Given the description of an element on the screen output the (x, y) to click on. 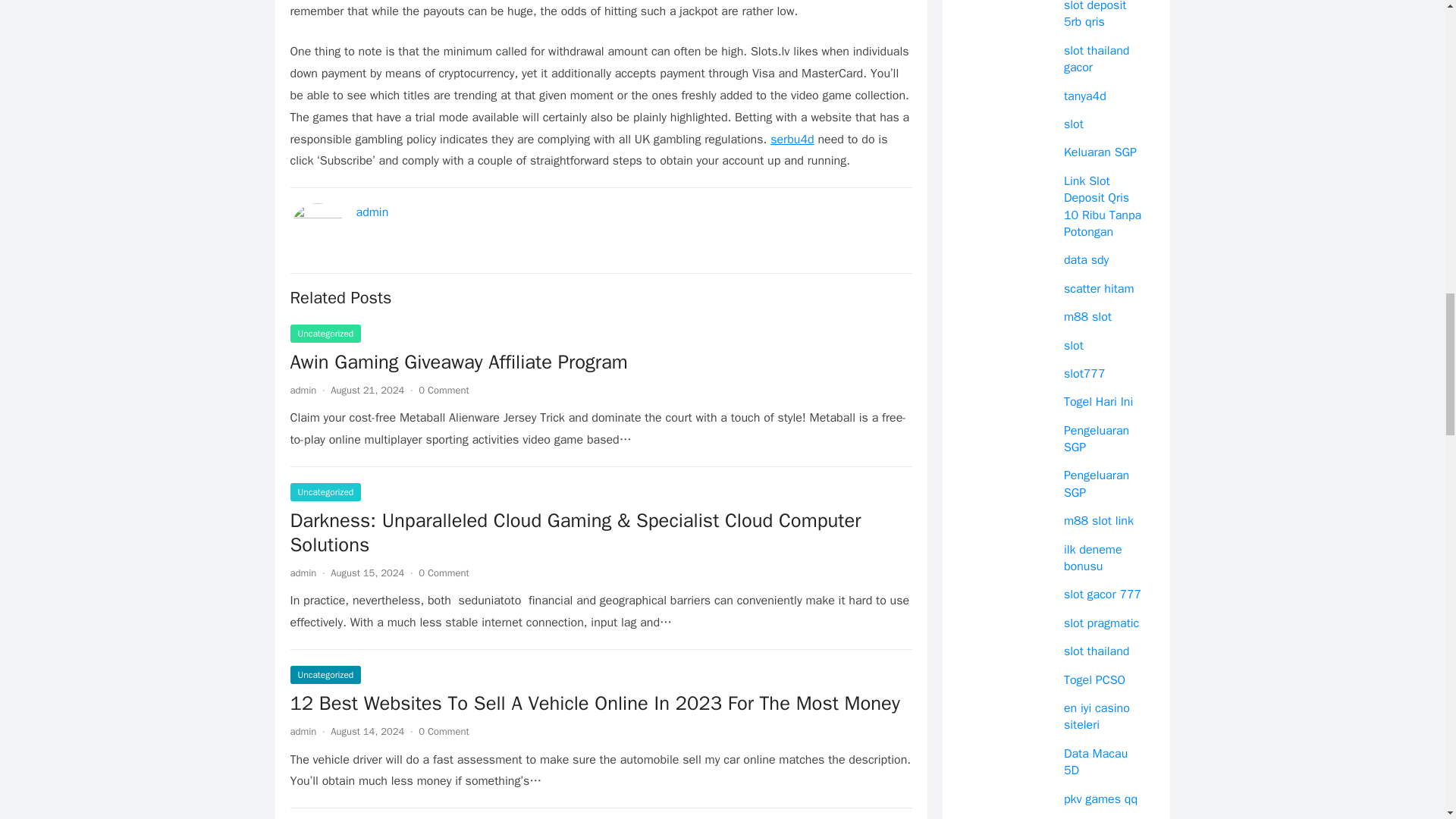
admin (302, 390)
Uncategorized (325, 674)
Awin Gaming Giveaway Affiliate Program (600, 362)
Posts by admin (302, 390)
Uncategorized (325, 492)
Uncategorized (325, 333)
admin (372, 212)
0 Comment (443, 730)
Posts by admin (302, 572)
